Given the description of an element on the screen output the (x, y) to click on. 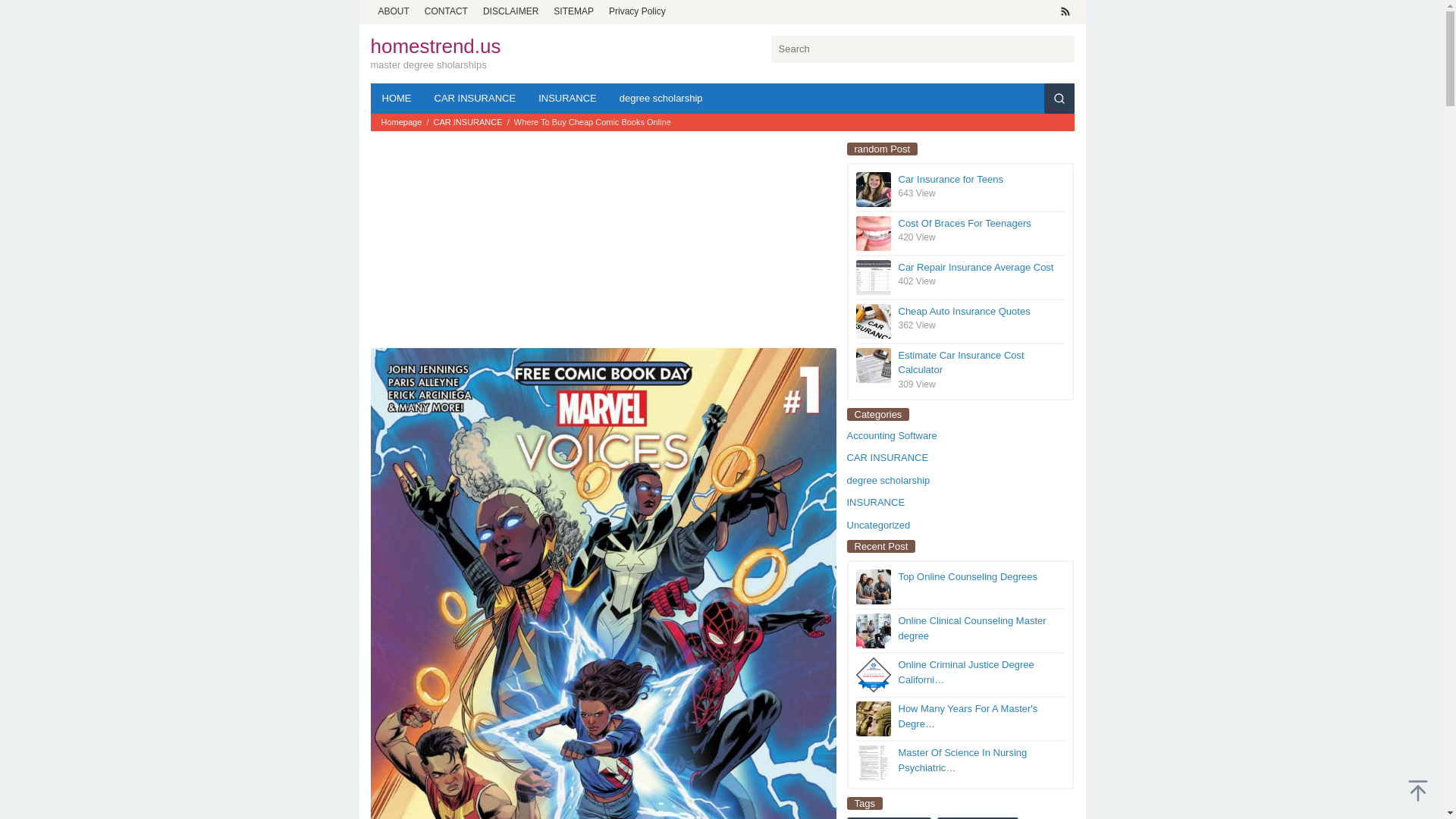
Privacy Policy (636, 11)
degree scholarship (661, 98)
HOME (395, 98)
INSURANCE (567, 98)
CONTACT (446, 11)
Car Insurance for Teens (950, 179)
Cost Of Braces For Teenagers (964, 223)
SITEMAP (573, 11)
Search (1058, 98)
Homepage (401, 121)
Search (23, 13)
CAR INSURANCE (475, 98)
homestrend.us (434, 46)
Car Repair Insurance Average Cost (975, 266)
